Given the description of an element on the screen output the (x, y) to click on. 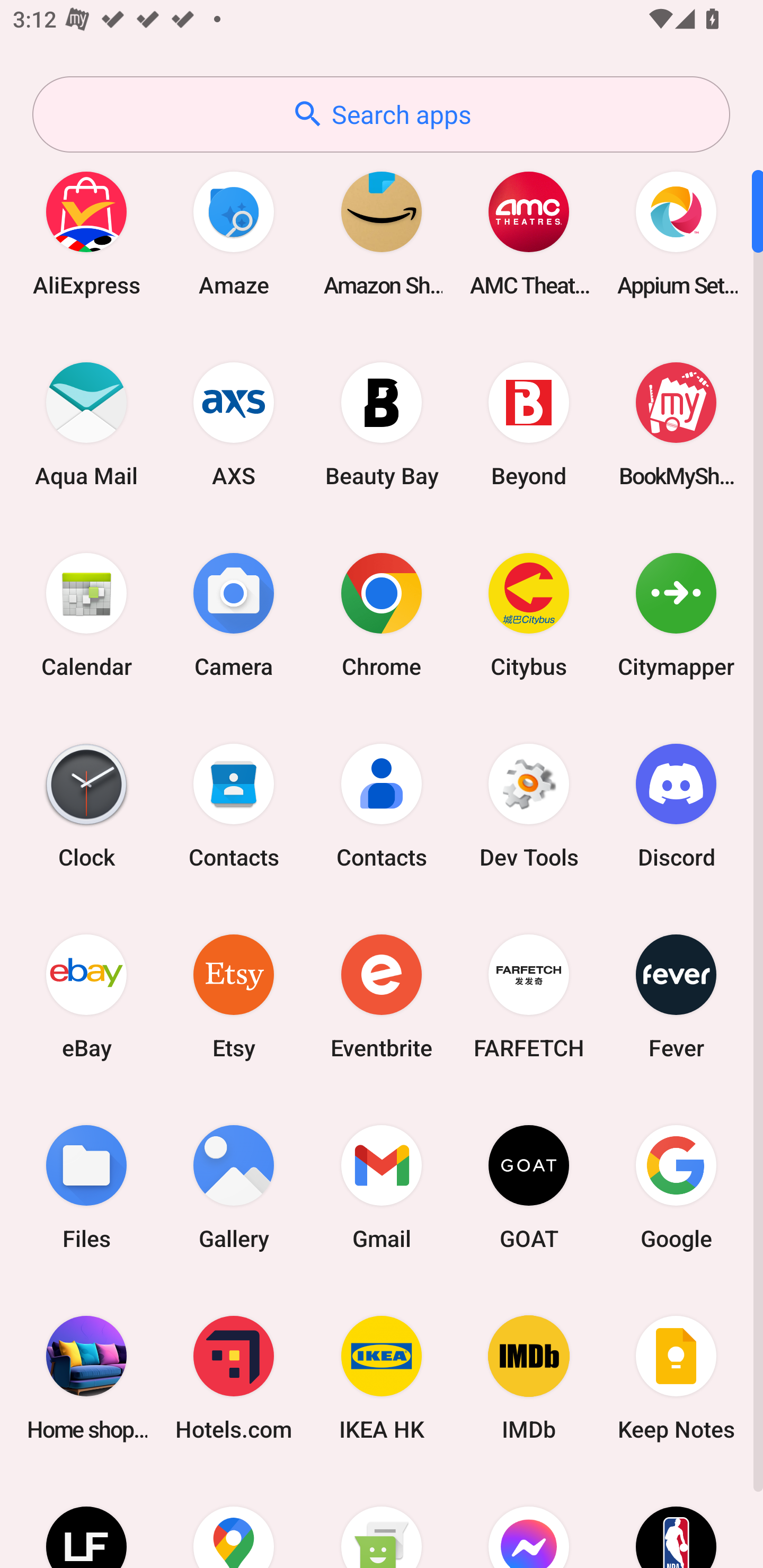
Citymapper (676, 614)
